Given the description of an element on the screen output the (x, y) to click on. 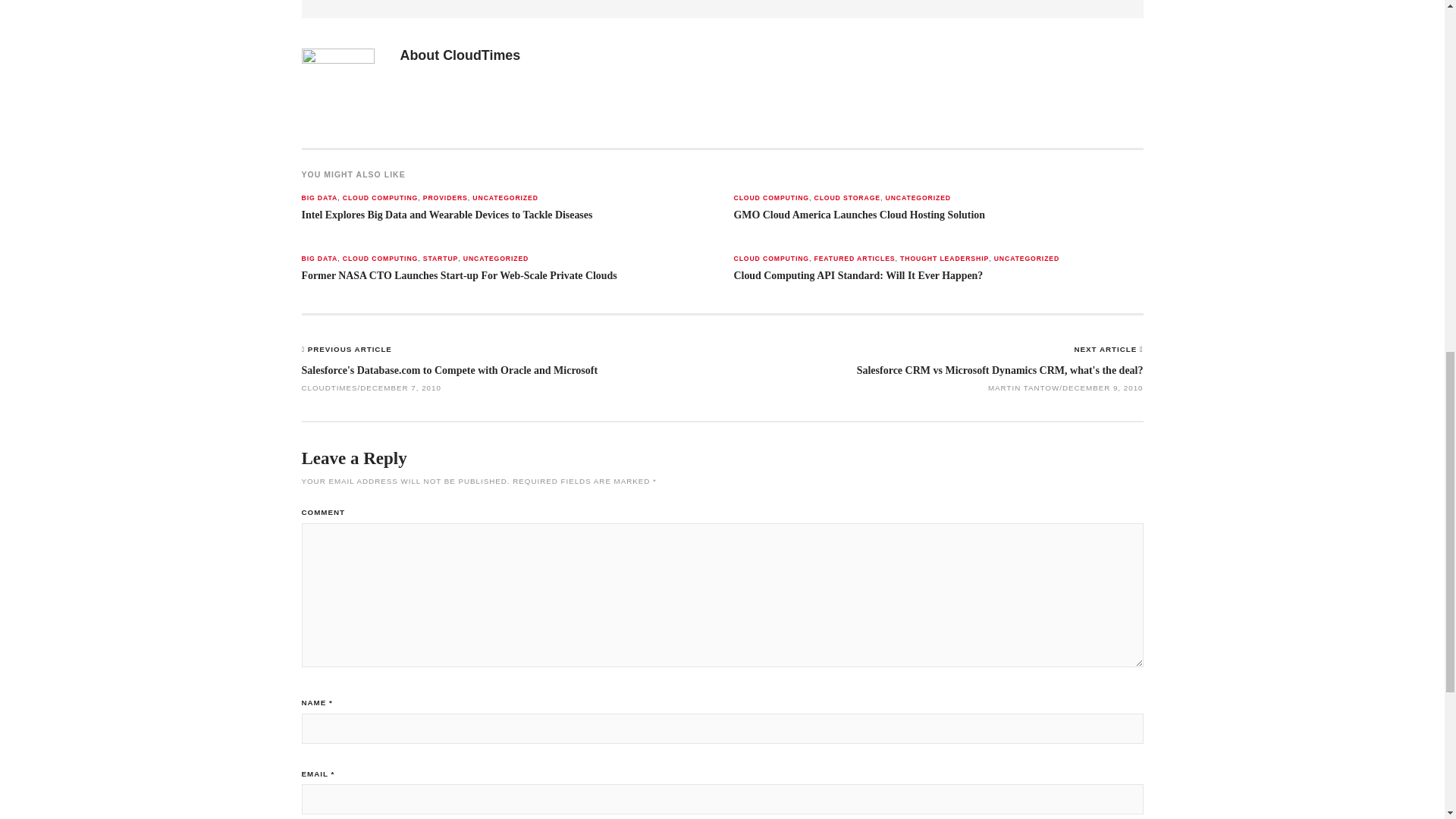
Posts by CloudTimes (480, 55)
